Given the description of an element on the screen output the (x, y) to click on. 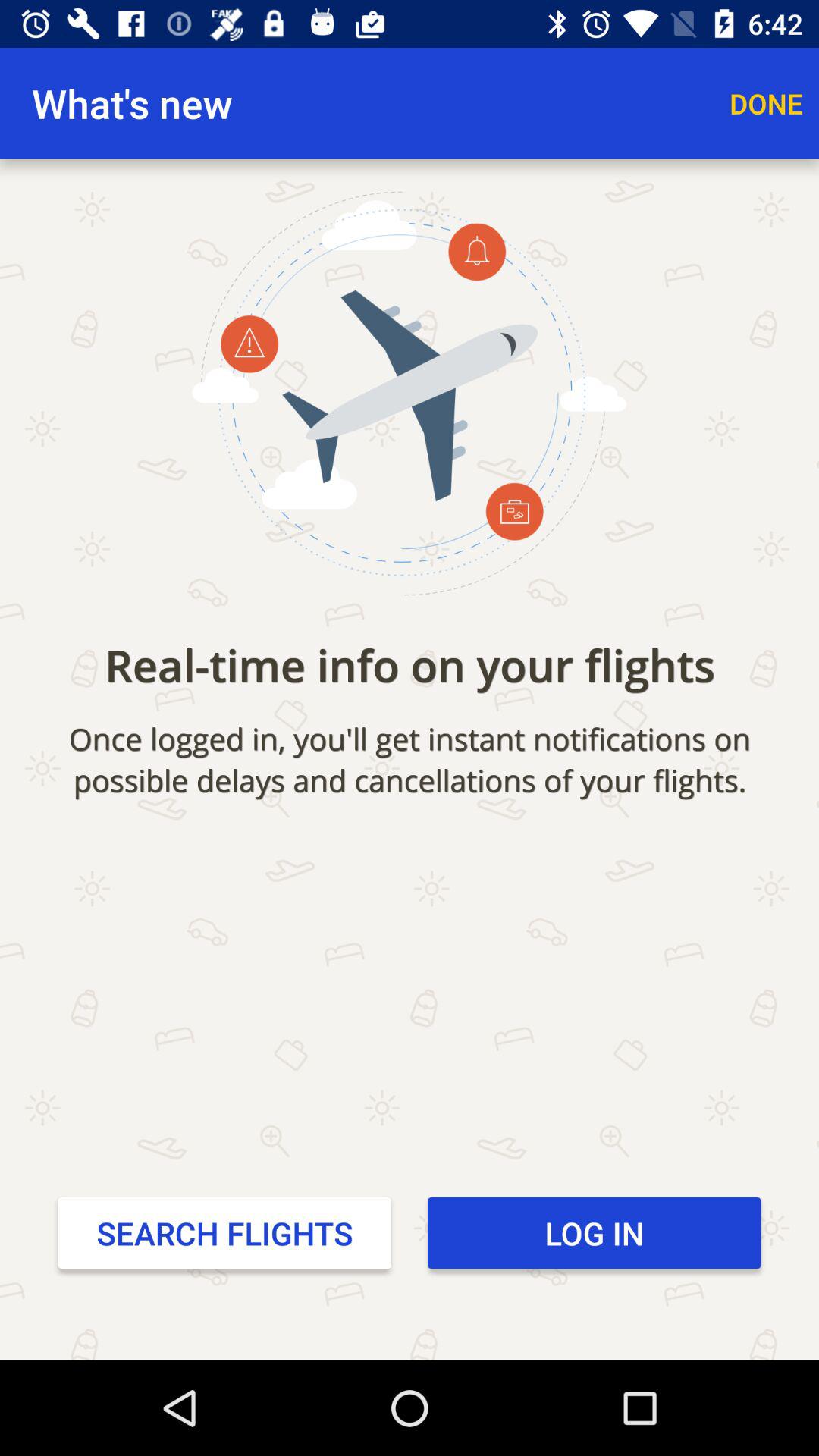
jump to the done icon (766, 103)
